Given the description of an element on the screen output the (x, y) to click on. 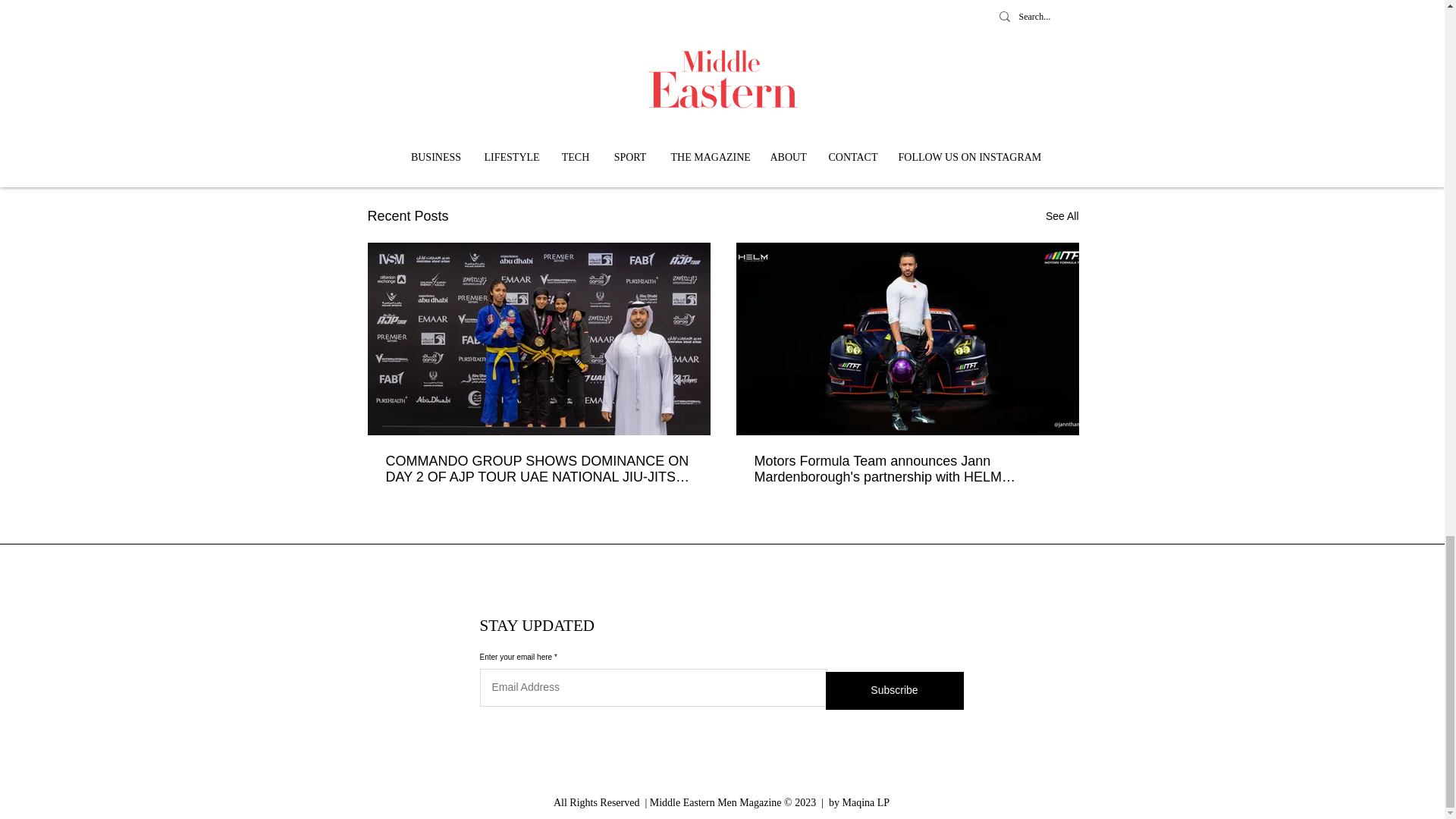
SPORTS (981, 119)
See All (1061, 216)
Maqina LP (865, 802)
Subscribe (893, 690)
